Given the description of an element on the screen output the (x, y) to click on. 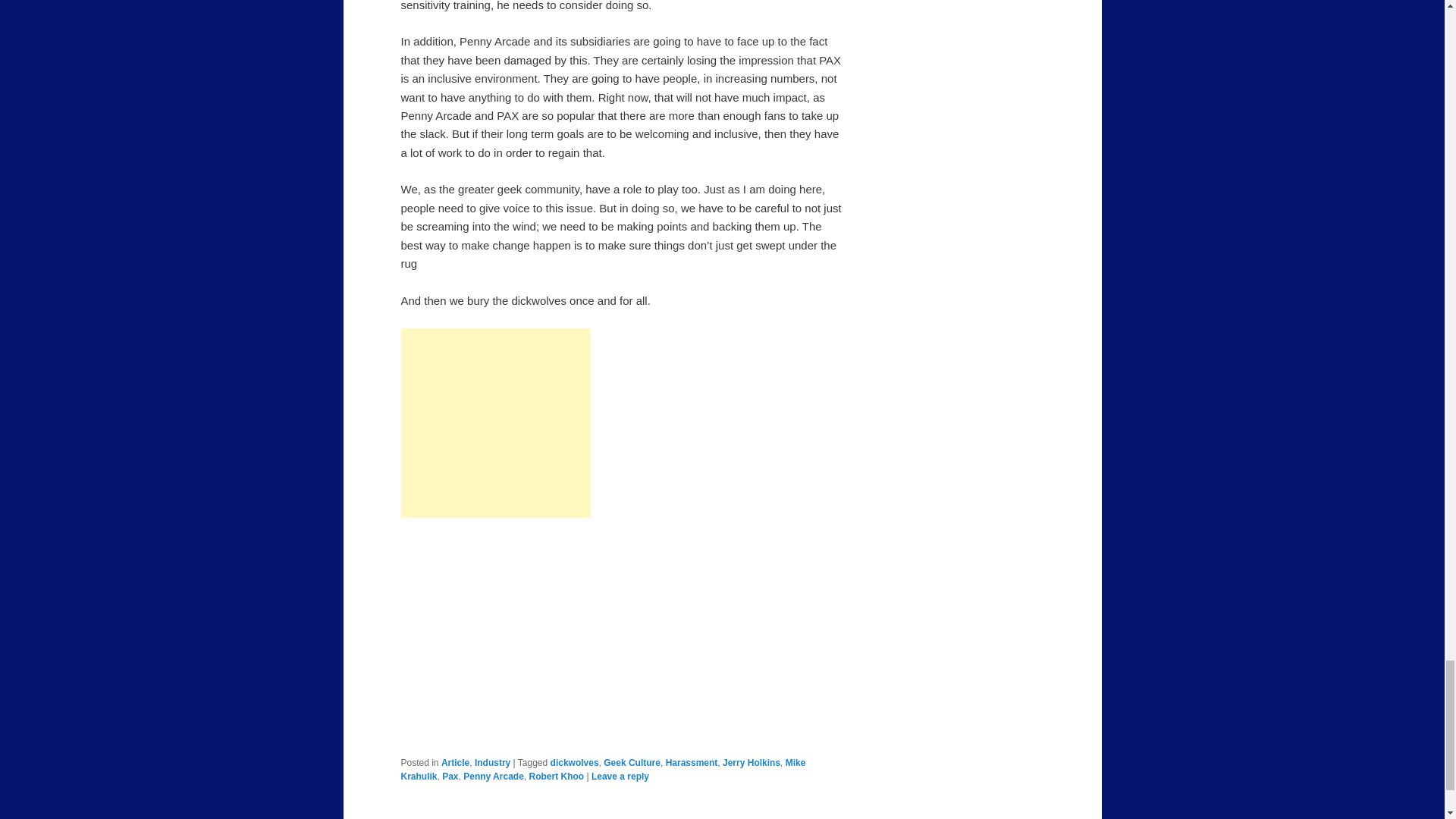
Robert Khoo (555, 776)
Penny Arcade (493, 776)
Mike Krahulik (602, 769)
Geek Culture (632, 762)
Industry (492, 762)
dickwolves (574, 762)
Pax (450, 776)
Harassment (691, 762)
Article (454, 762)
Leave a reply (620, 776)
Jerry Holkins (751, 762)
